Given the description of an element on the screen output the (x, y) to click on. 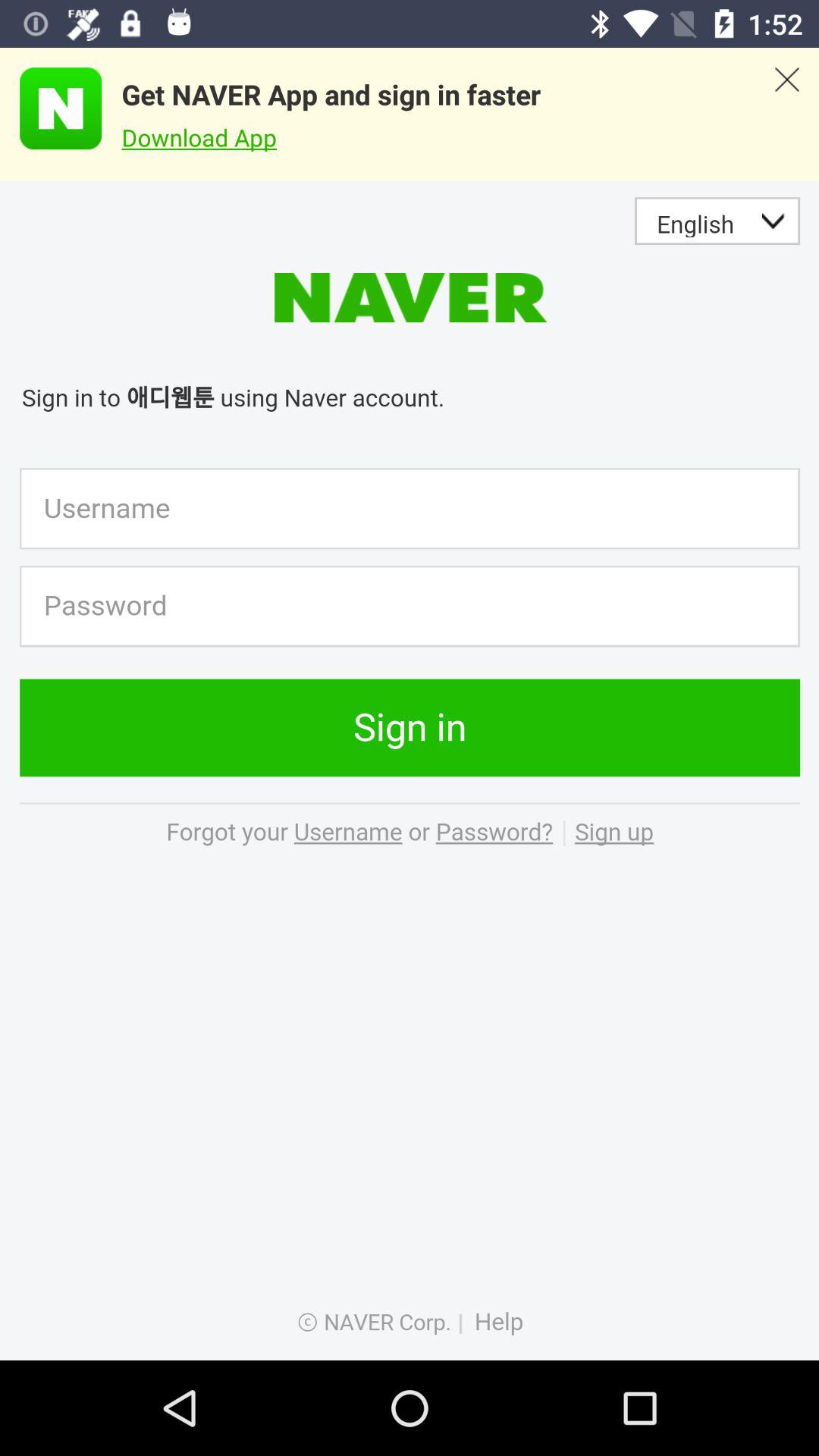
exit advertisement (787, 114)
